Given the description of an element on the screen output the (x, y) to click on. 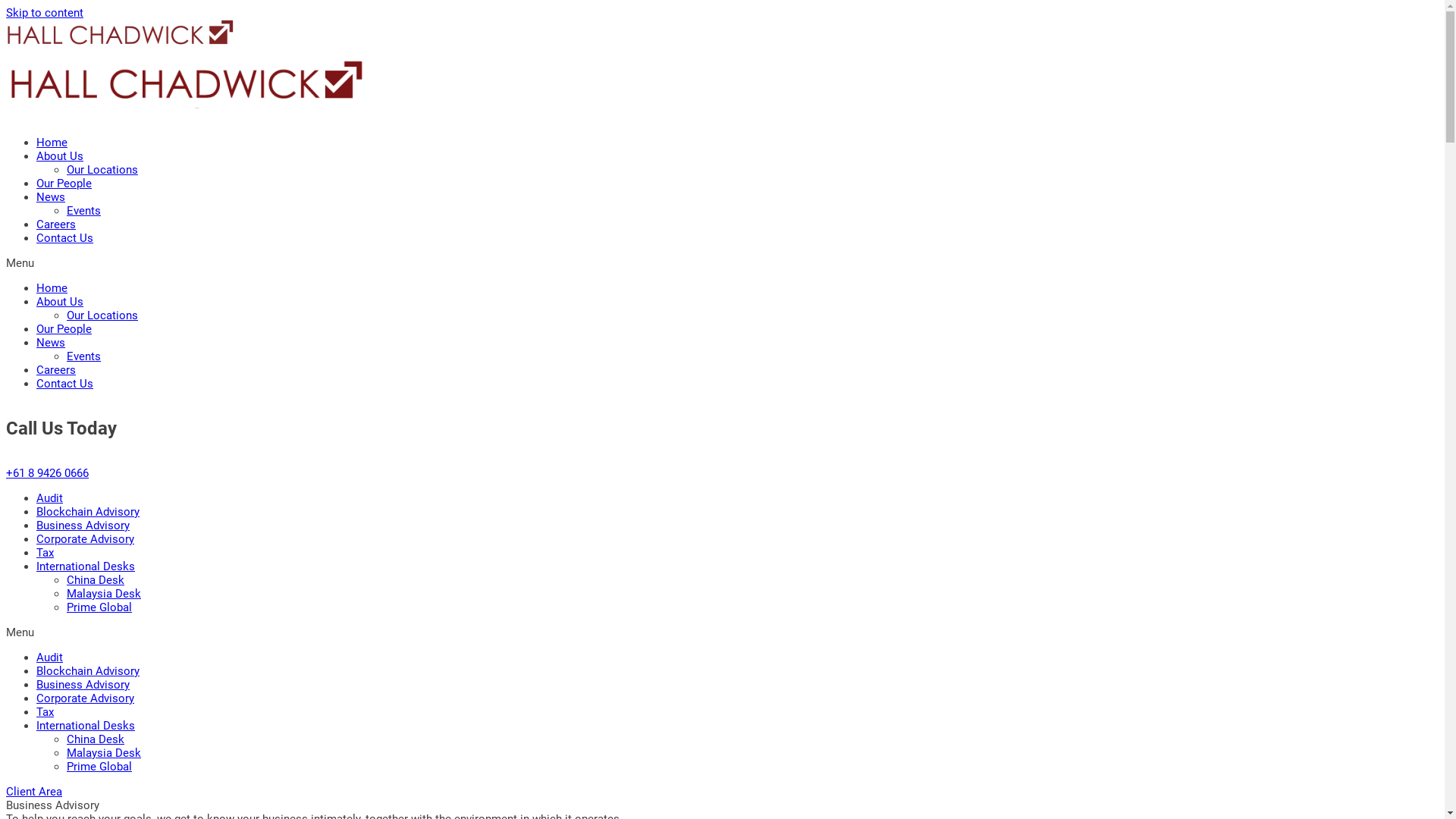
Audit Element type: text (49, 498)
Home Element type: text (51, 142)
Careers Element type: text (55, 369)
Malaysia Desk Element type: text (103, 752)
Corporate Advisory Element type: text (85, 539)
Client Area Element type: text (34, 791)
China Desk Element type: text (95, 739)
Business Advisory Element type: text (82, 684)
International Desks Element type: text (85, 725)
Our People Element type: text (63, 183)
Prime Global Element type: text (98, 607)
China Desk Element type: text (95, 579)
Skip to content Element type: text (44, 12)
Blockchain Advisory Element type: text (87, 511)
News Element type: text (50, 196)
Our Locations Element type: text (102, 169)
Malaysia Desk Element type: text (103, 593)
News Element type: text (50, 342)
About Us Element type: text (59, 156)
Tax Element type: text (44, 711)
Events Element type: text (83, 210)
Contact Us Element type: text (64, 383)
Corporate Advisory Element type: text (85, 698)
Audit Element type: text (49, 657)
Events Element type: text (83, 356)
Contact Us Element type: text (64, 237)
About Us Element type: text (59, 301)
Home Element type: text (51, 287)
Careers Element type: text (55, 224)
Business Advisory Element type: text (82, 525)
Our People Element type: text (63, 328)
Our Locations Element type: text (102, 315)
International Desks Element type: text (85, 566)
Tax Element type: text (44, 552)
Prime Global Element type: text (98, 766)
+61 8 9426 0666 Element type: text (47, 473)
Blockchain Advisory Element type: text (87, 670)
